Given the description of an element on the screen output the (x, y) to click on. 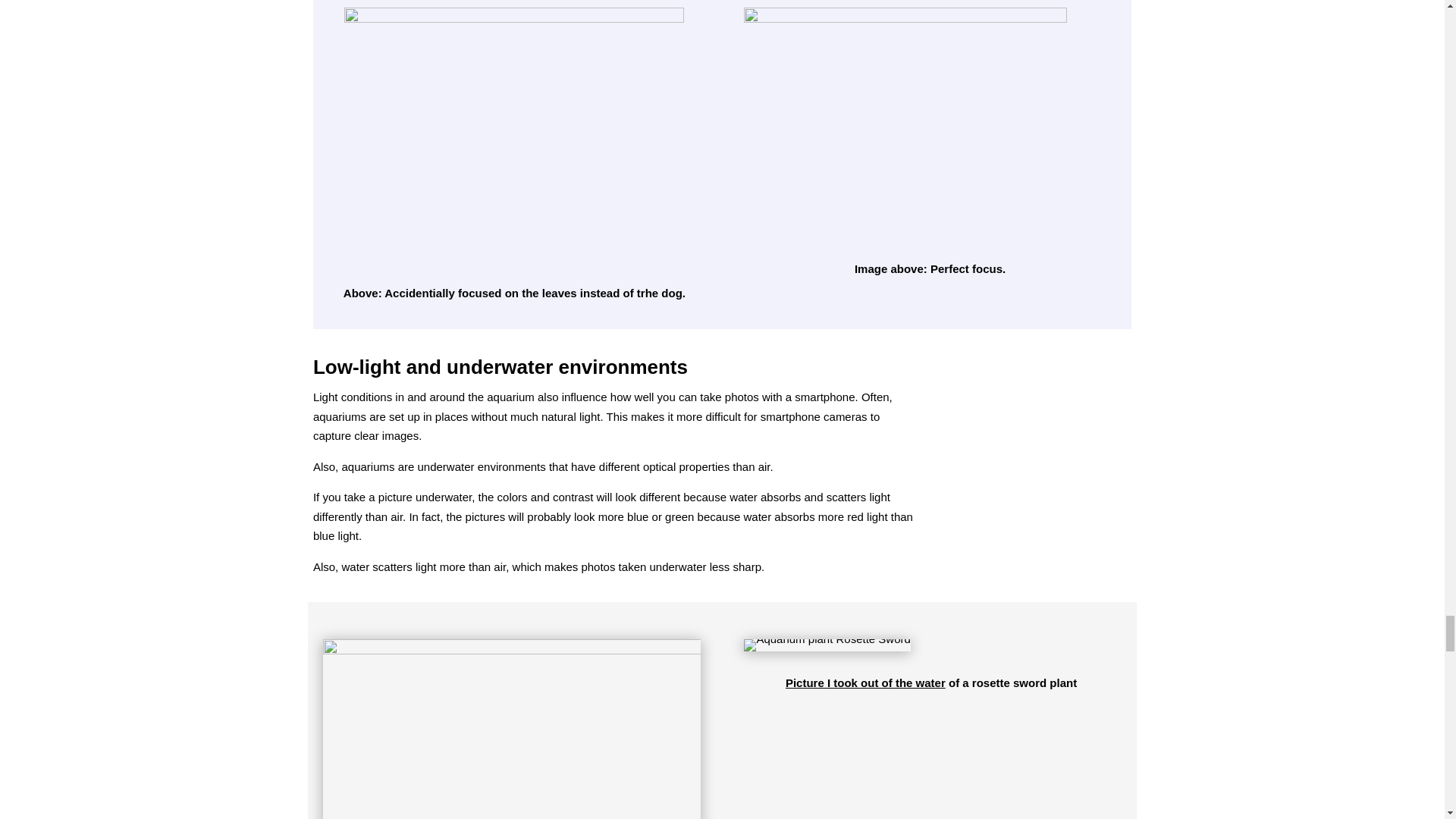
rosette sword (827, 645)
focus 2-min (513, 134)
